Given the description of an element on the screen output the (x, y) to click on. 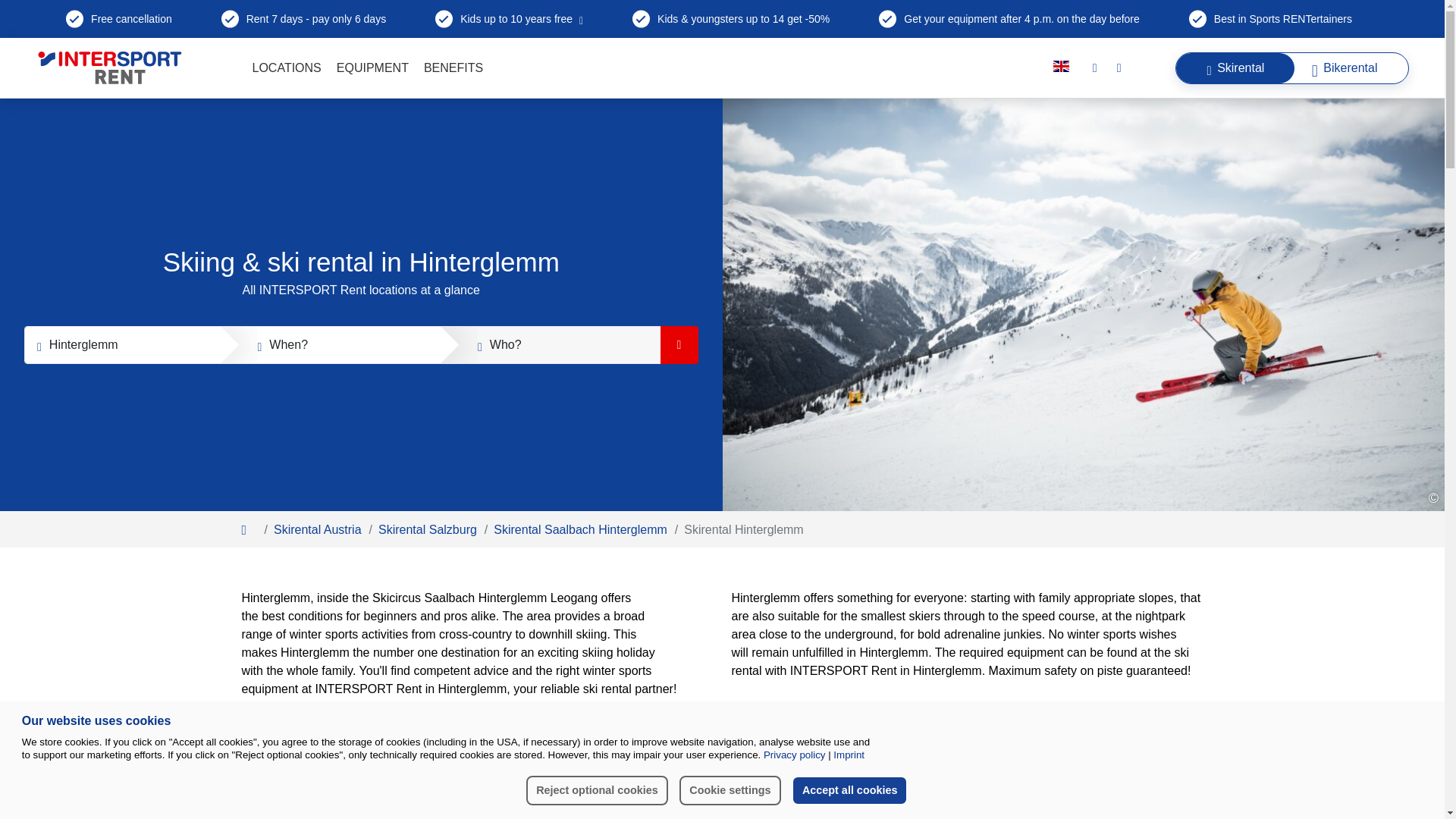
EQUIPMENT (372, 67)
BENEFITS (453, 67)
Privacy policy (793, 754)
Accept all cookies (849, 789)
Privacy policy (793, 754)
Imprint (846, 754)
Cookie settings (729, 789)
Reject optional cookies (596, 789)
Imprint (846, 754)
LOCATIONS (286, 67)
